Given the description of an element on the screen output the (x, y) to click on. 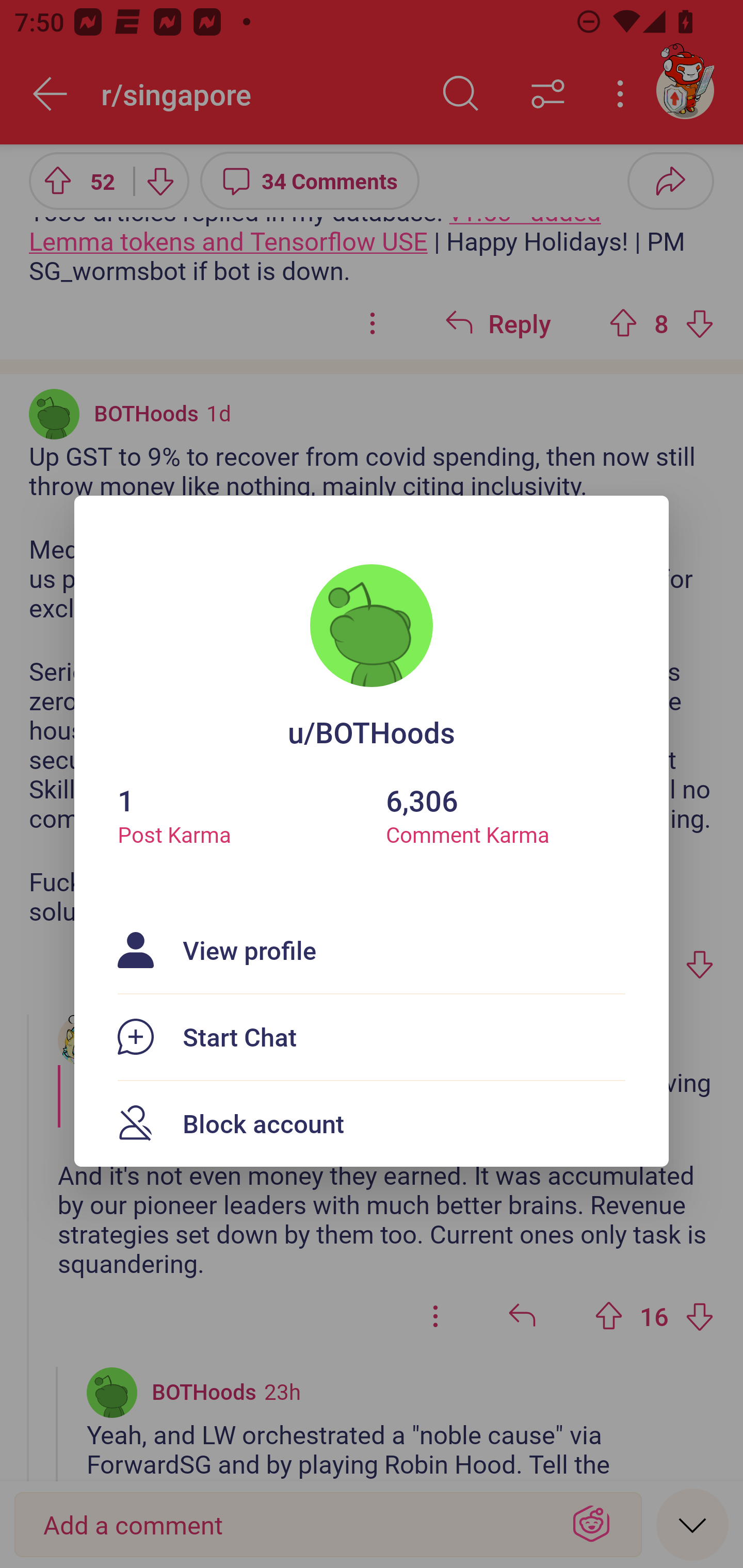
u/BOTHoods (371, 731)
View profile (371, 950)
Start Chat (371, 1037)
Block account (371, 1123)
